Given the description of an element on the screen output the (x, y) to click on. 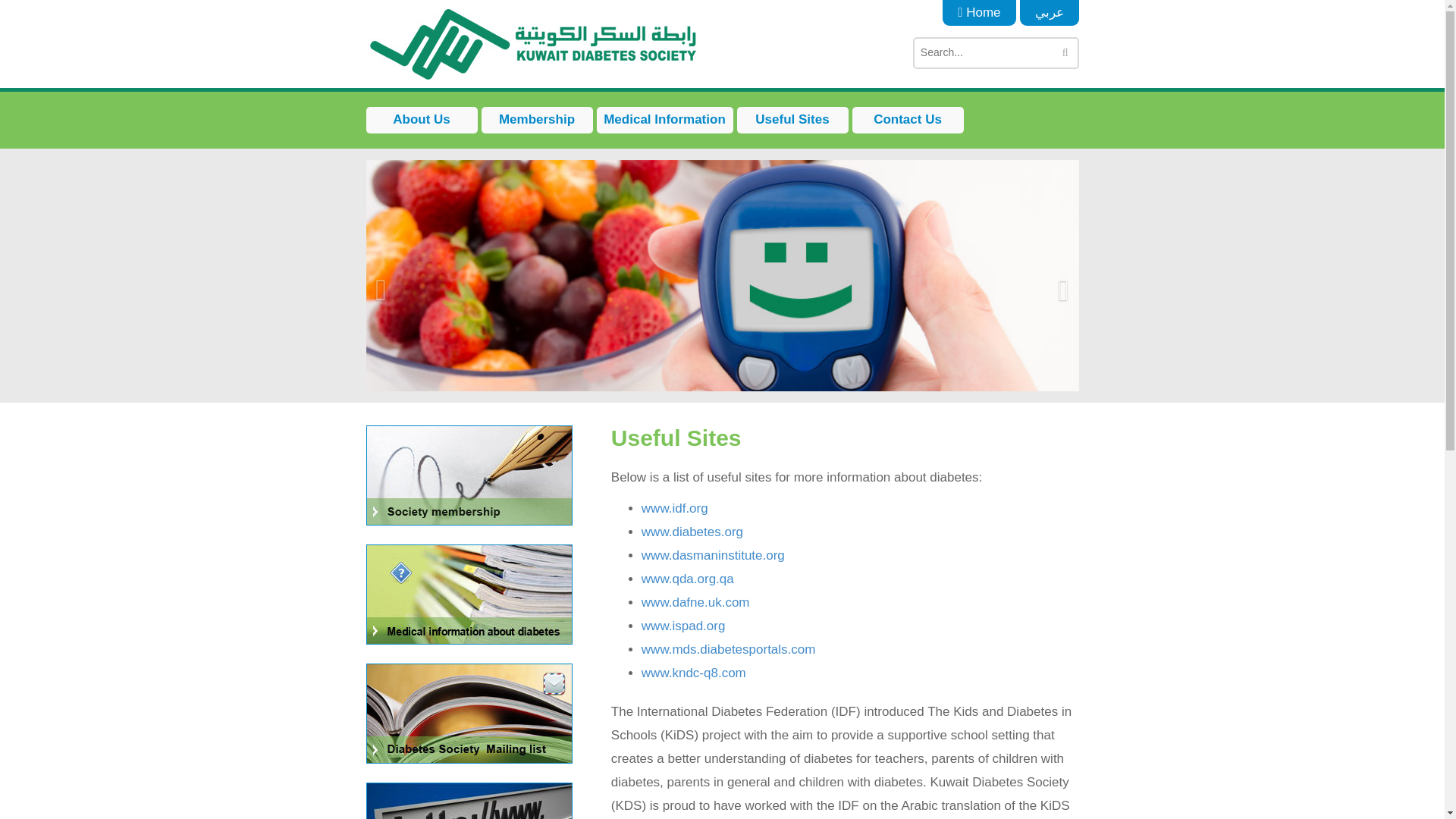
Next (1063, 329)
Contact Us (907, 119)
Medical Information (663, 119)
www.dafne.uk.com (695, 602)
Previous (380, 329)
www.dasmaninstitute.org (713, 554)
www.mds.diabetesportals.com (728, 649)
Home (978, 12)
www.ispad.org (683, 626)
Useful Sites (792, 119)
www.idf.org (674, 508)
www.diabetes.org (692, 531)
About Us (421, 119)
www.qda.org.qa (687, 578)
www.kndc-q8.com (693, 672)
